Given the description of an element on the screen output the (x, y) to click on. 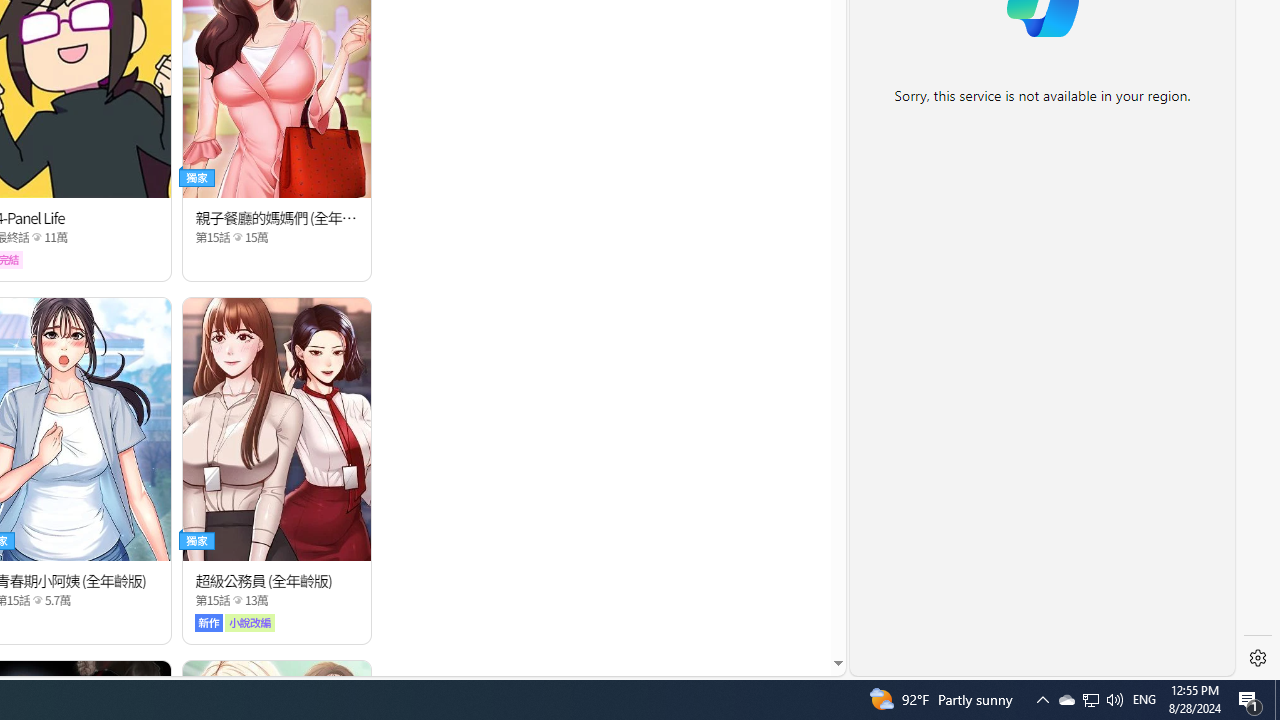
Settings (1258, 658)
Class: epicon_starpoint (237, 600)
Class: thumb_img (277, 428)
